Given the description of an element on the screen output the (x, y) to click on. 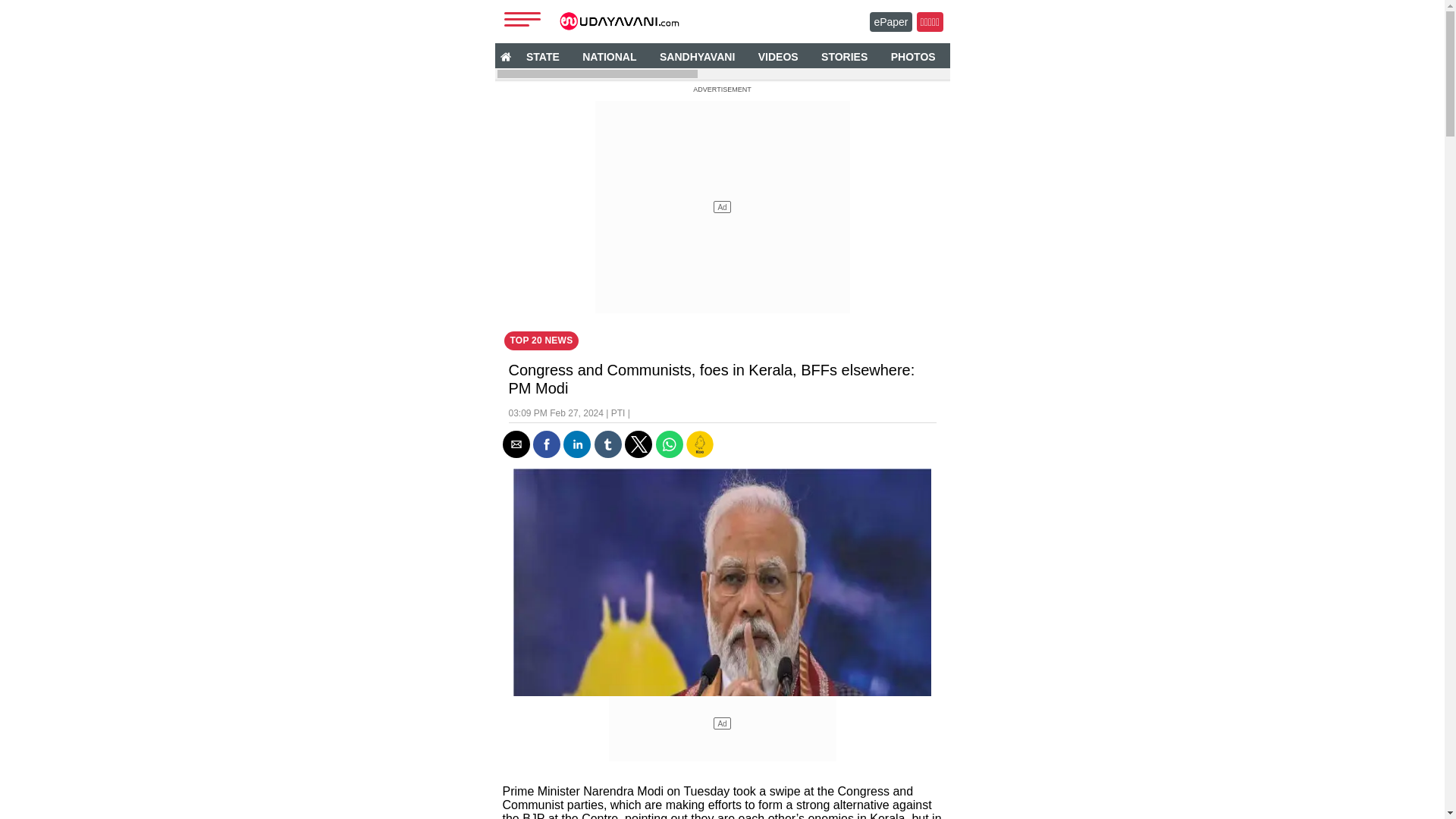
VIDEOS (778, 56)
Share on Koo App (699, 453)
TOP 20 NEWS (540, 340)
SANDHYAVANI (696, 56)
ePaper (890, 21)
PREMIUM CONTENT (1264, 56)
STATE (542, 56)
LOK SABHA 2024 (1384, 56)
ELECTION-2023 (1149, 56)
STORIES (843, 56)
